Given the description of an element on the screen output the (x, y) to click on. 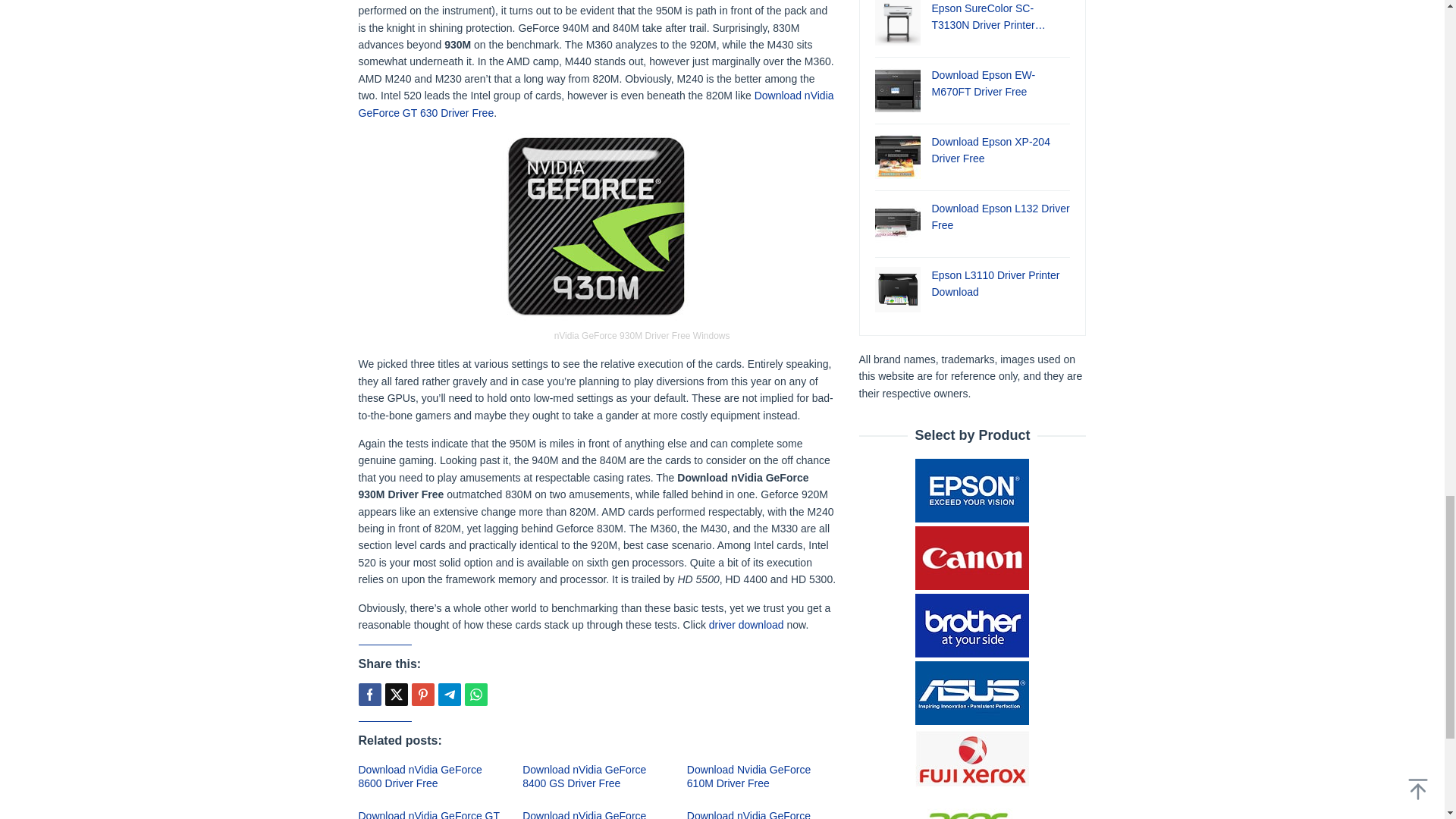
Share this (369, 694)
Download nVidia GeForce 920M Driver Free (748, 814)
Whatsapp (475, 694)
Download Nvidia GeForce 610M Driver Free (748, 776)
Download nVidia GeForce 8600 Driver Free (419, 776)
Permalink to: Download nVidia GeForce 920M Driver Free (748, 814)
Permalink to: Download nVidia GeForce GT 730 Driver Free (428, 814)
Permalink to: Download nVidia GeForce 8600 Driver Free (419, 776)
driver download (746, 624)
Permalink to: Download nVidia GeForce 720M Driver Free (584, 814)
